Given the description of an element on the screen output the (x, y) to click on. 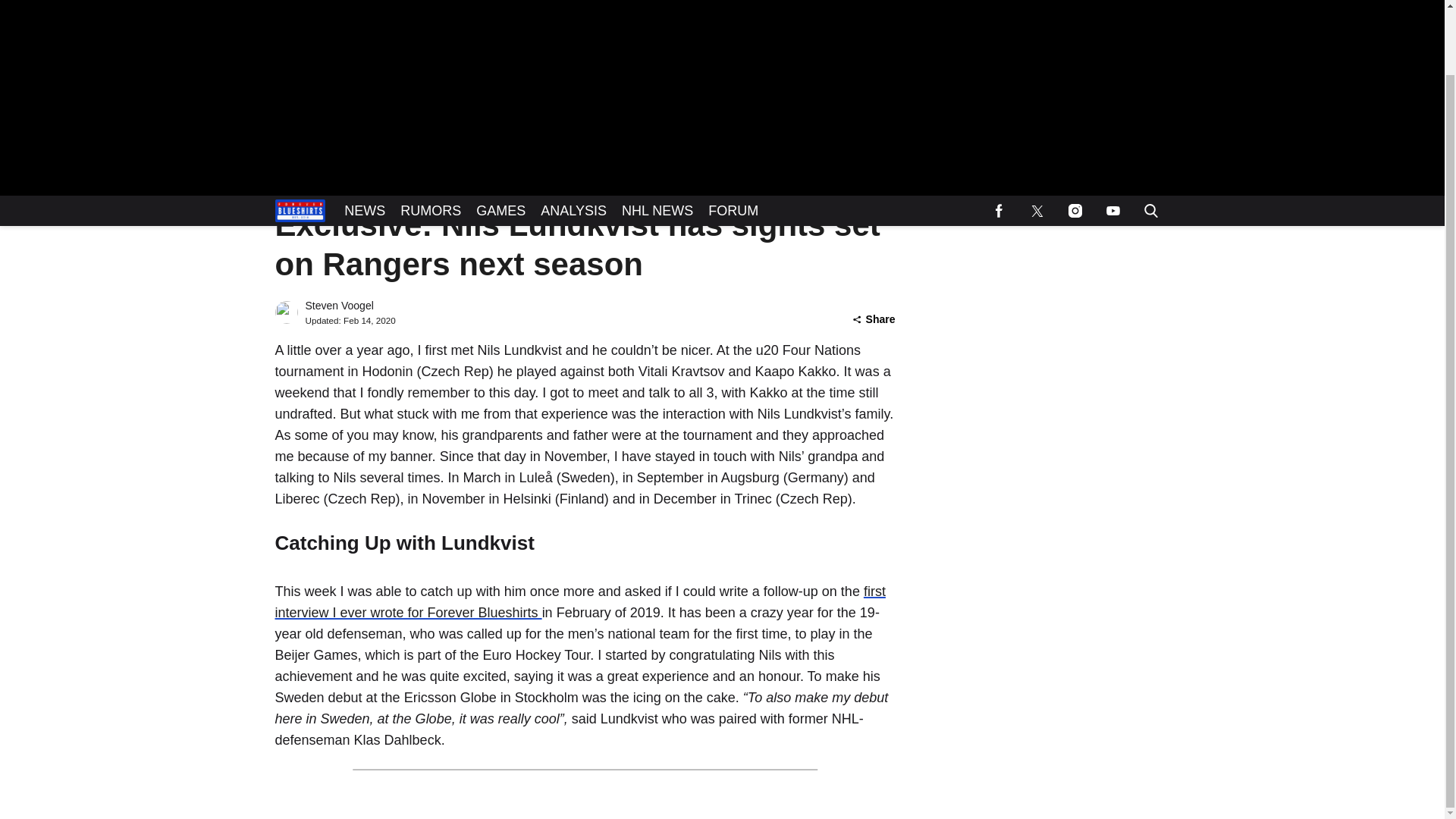
NHL NEWS (657, 139)
GAMES (500, 139)
Steven Voogel (338, 305)
FORUM (732, 139)
first interview I ever wrote for Forever Blueshirts (580, 601)
Posts by Steven Voogel (338, 305)
Follow us on Twitter (1036, 139)
Follow us on Facebook (998, 139)
ANALYSIS (573, 139)
Subscribe to our YouTube channel (1112, 139)
